Given the description of an element on the screen output the (x, y) to click on. 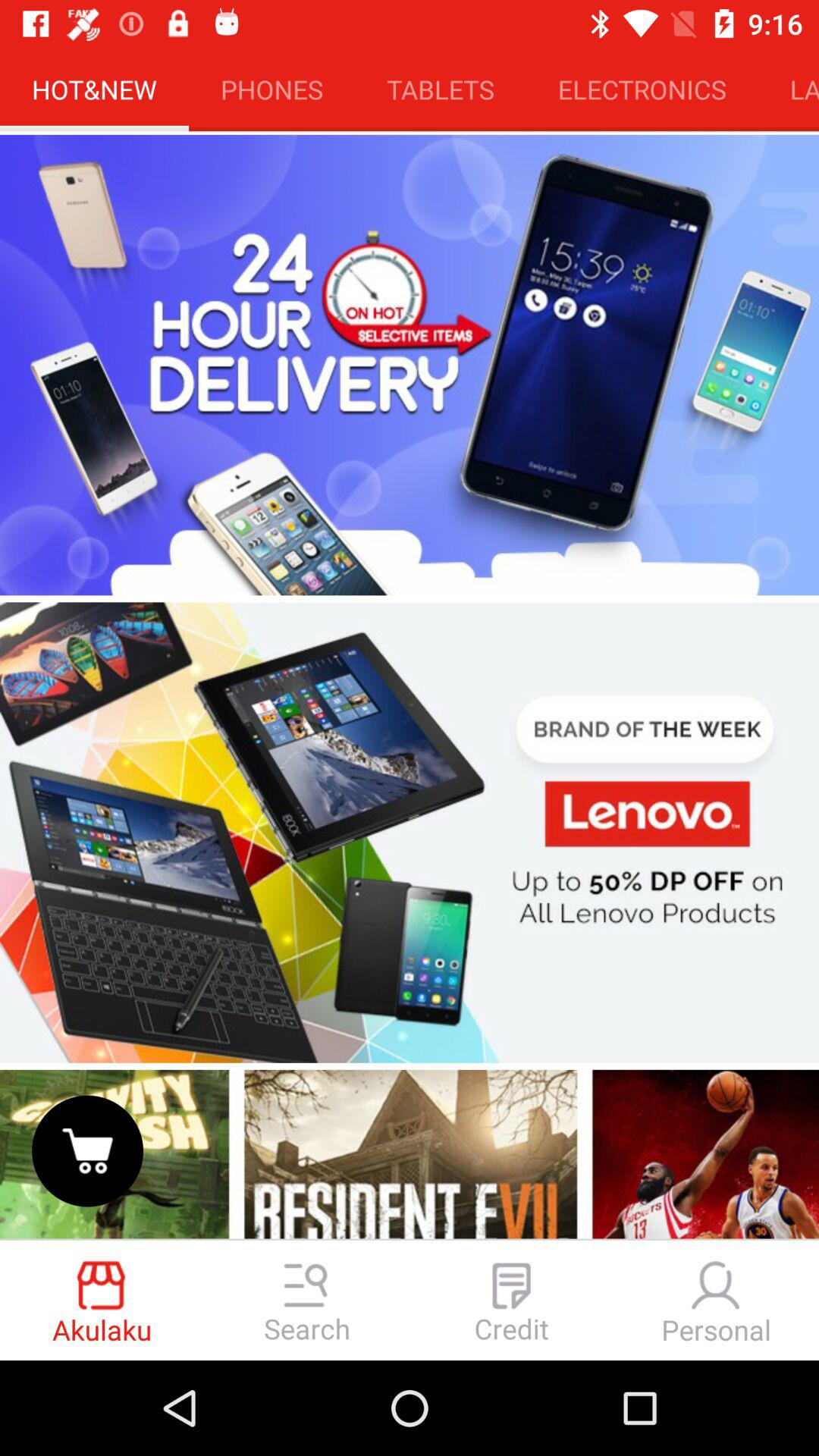
turn on item above the akulaku (87, 1150)
